Given the description of an element on the screen output the (x, y) to click on. 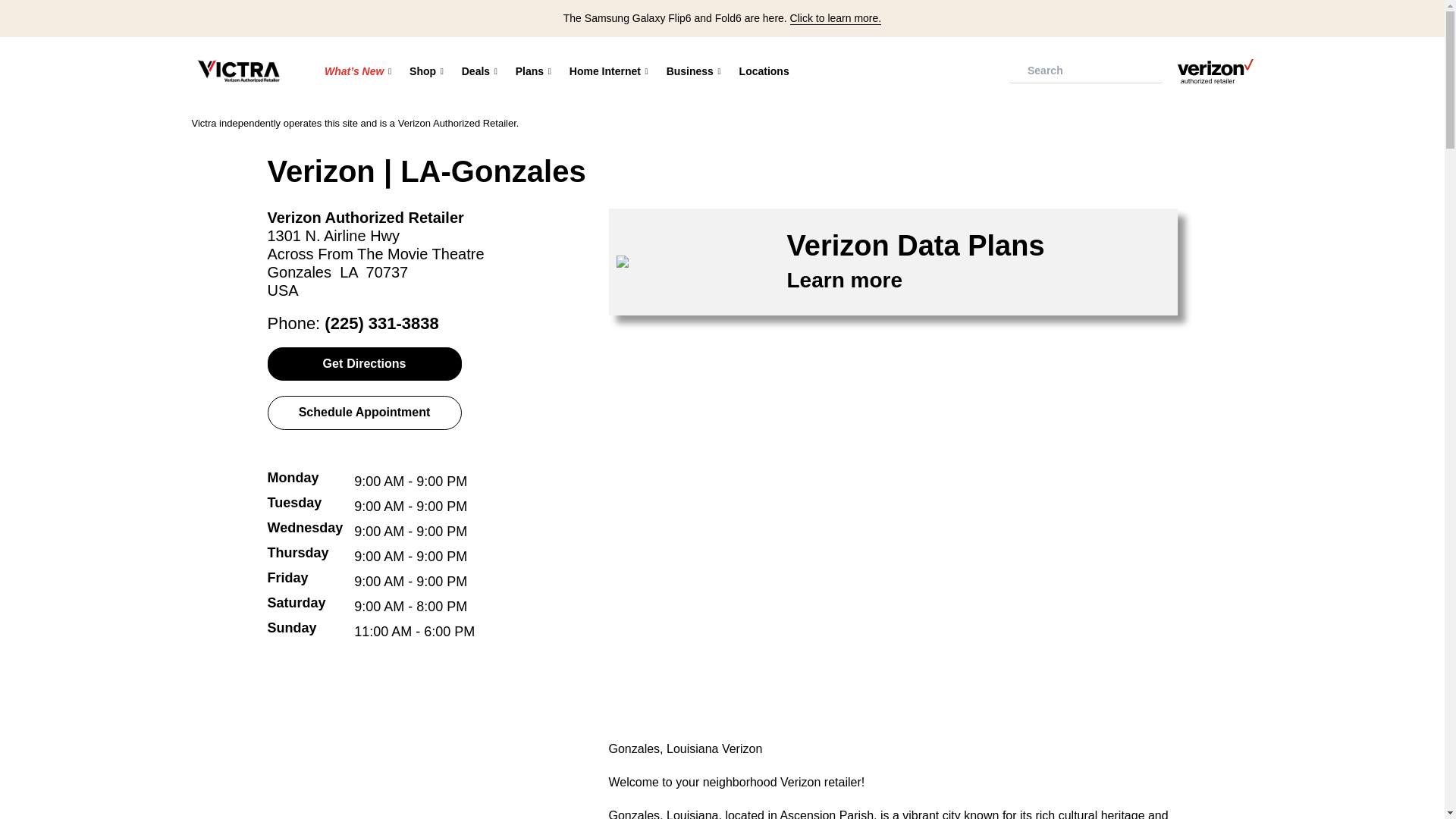
Locations (763, 70)
5G Home Internet (669, 122)
Click to learn more. (836, 18)
Apple iPhone 15 Series (424, 121)
Internet (767, 122)
All Devices (510, 121)
Discounts (767, 121)
Apple (561, 122)
Discounts (615, 121)
Home Internet (609, 70)
Mobile (615, 122)
Accessories (561, 121)
Apple (510, 122)
Business (694, 70)
Discounts (669, 121)
